Given the description of an element on the screen output the (x, y) to click on. 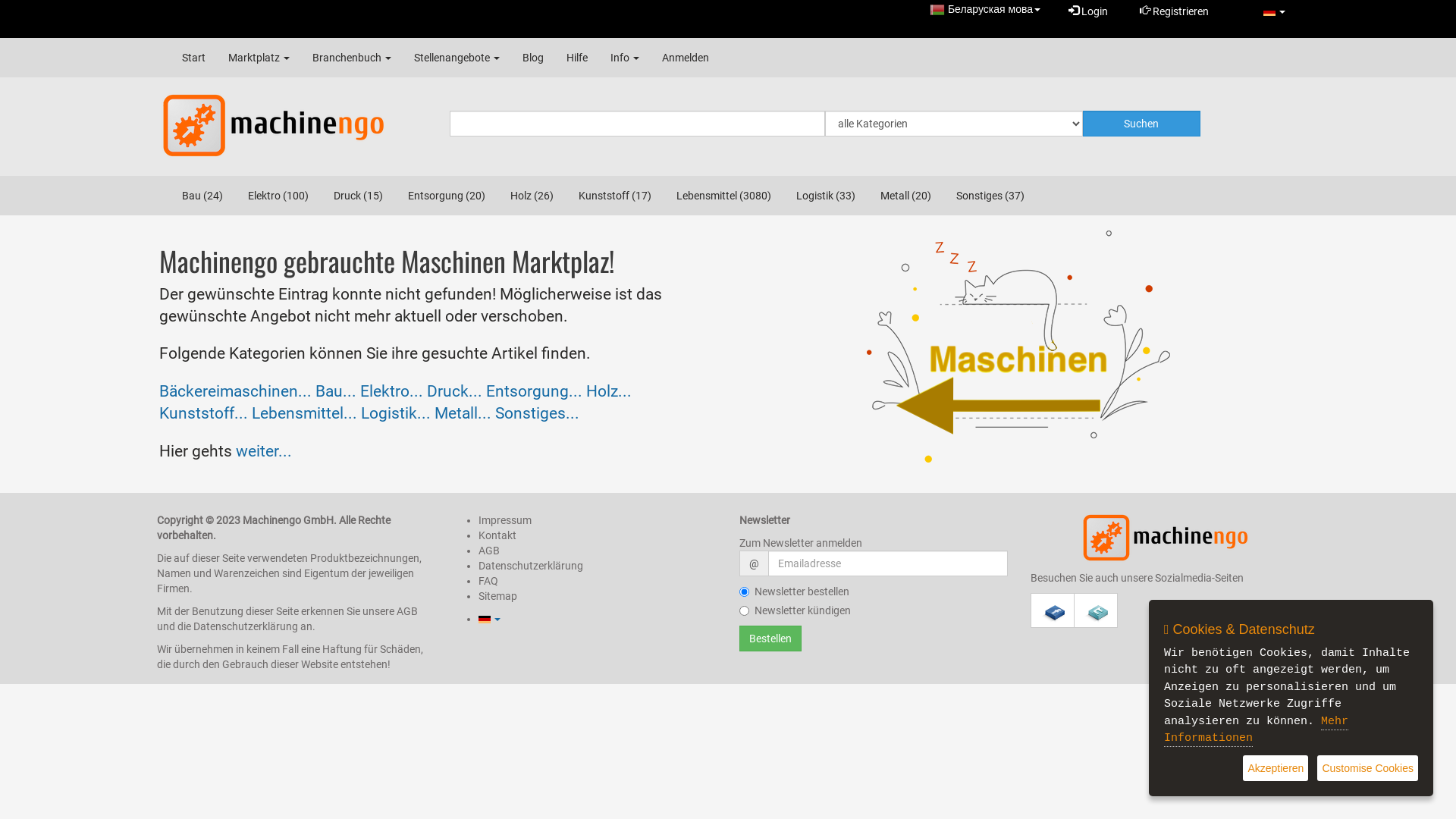
weiter... Element type: text (263, 451)
Entsorgung (20) Element type: text (446, 195)
Elektro... Element type: text (391, 391)
Kunststoff (17) Element type: text (614, 195)
Hilfe Element type: text (577, 57)
Blog Element type: text (533, 57)
AGB Element type: text (488, 550)
Logistik... Element type: text (395, 413)
Sonstiges (37) Element type: text (989, 195)
Entsorgung... Element type: text (534, 391)
Druck (15) Element type: text (358, 195)
Machinengo Element type: hover (1164, 537)
Lebensmittel... Element type: text (304, 413)
Sitemap Element type: text (497, 595)
Kontakt Element type: text (497, 535)
Sonstiges... Element type: text (537, 413)
Kunststoff... Element type: text (203, 413)
Start Element type: text (193, 57)
Bau (24) Element type: text (202, 195)
Impressum Element type: text (504, 520)
Bau... Element type: text (335, 391)
Stellenangebote Element type: text (456, 57)
Marktplatz Element type: text (258, 57)
Mehr Informationen Element type: text (1256, 730)
Elektro (100) Element type: text (278, 195)
Metall... Element type: text (462, 413)
Holz... Element type: text (608, 391)
Customise Cookies Element type: text (1367, 768)
Holz (26) Element type: text (531, 195)
Anmelden Element type: text (685, 57)
Logistik (33) Element type: text (825, 195)
Bestellen Element type: text (770, 638)
Akzeptieren Element type: text (1275, 768)
Info Element type: text (624, 57)
Branchenbuch Element type: text (351, 57)
Registrieren Element type: text (1174, 11)
FAQ Element type: text (488, 580)
Lebensmittel (3080) Element type: text (723, 195)
Suchen Element type: text (1141, 123)
Metall (20) Element type: text (905, 195)
Login Element type: text (1088, 11)
Druck... Element type: text (454, 391)
